Given the description of an element on the screen output the (x, y) to click on. 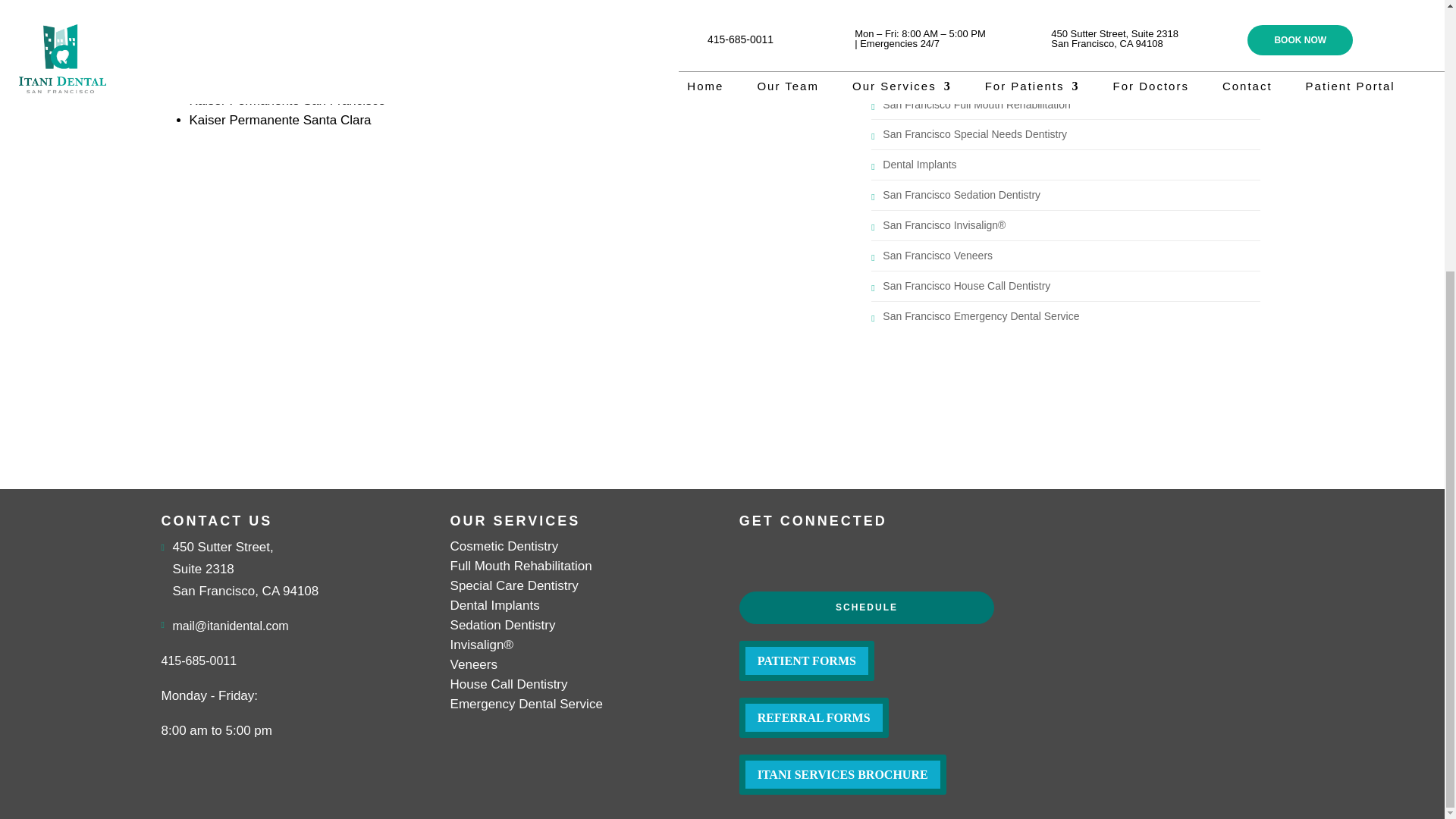
Dental Implants (919, 164)
Cosmetic Dentistry (926, 73)
San Francisco Special Needs Dentistry (974, 133)
San Francisco Full Mouth Rehabilitation (976, 104)
San Francisco Sedation Dentistry (961, 194)
San Francisco House Call Dentistry (965, 285)
San Francisco Veneers (937, 255)
YouTube video player (372, 262)
